Given the description of an element on the screen output the (x, y) to click on. 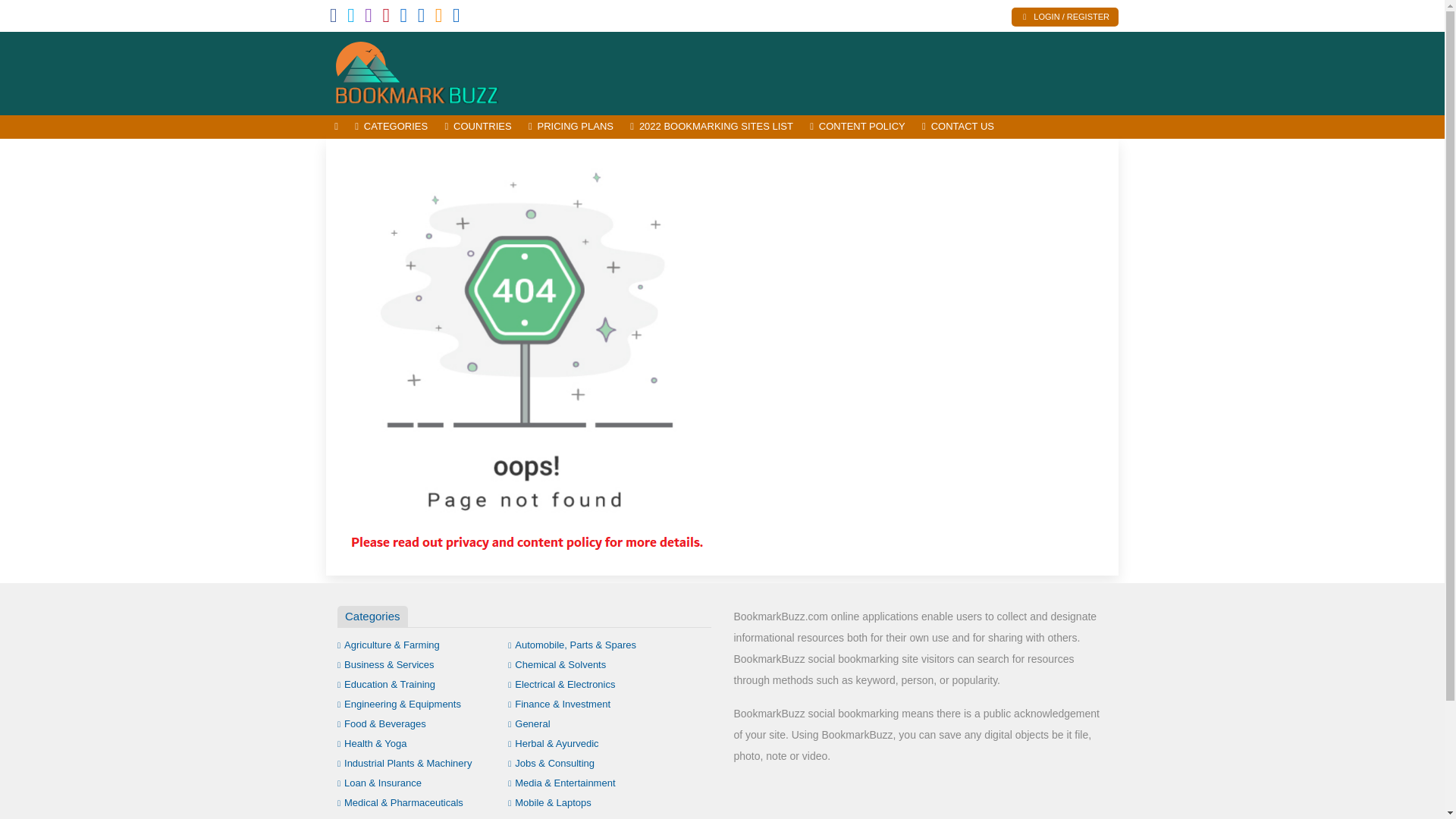
PRICING PLANS (570, 126)
General (529, 723)
CONTACT US (958, 126)
CATEGORIES (390, 126)
COUNTRIES (477, 126)
2022 BOOKMARKING SITES LIST (711, 126)
CONTENT POLICY (858, 126)
